Given the description of an element on the screen output the (x, y) to click on. 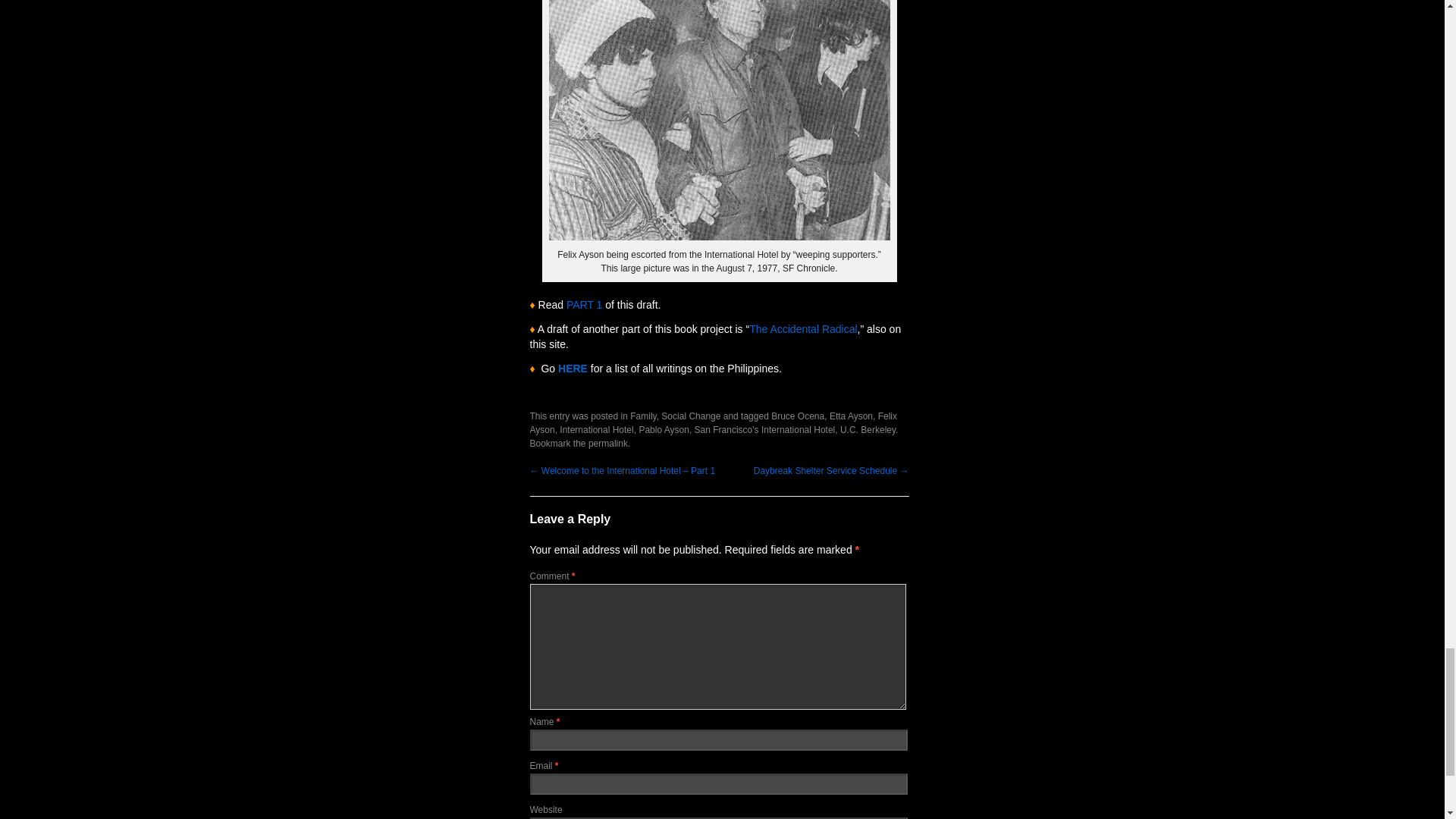
Writing About the Philippines (572, 368)
Welcome to the International Hotel - Part 1 (584, 304)
The Accidental Radical (803, 328)
